Given the description of an element on the screen output the (x, y) to click on. 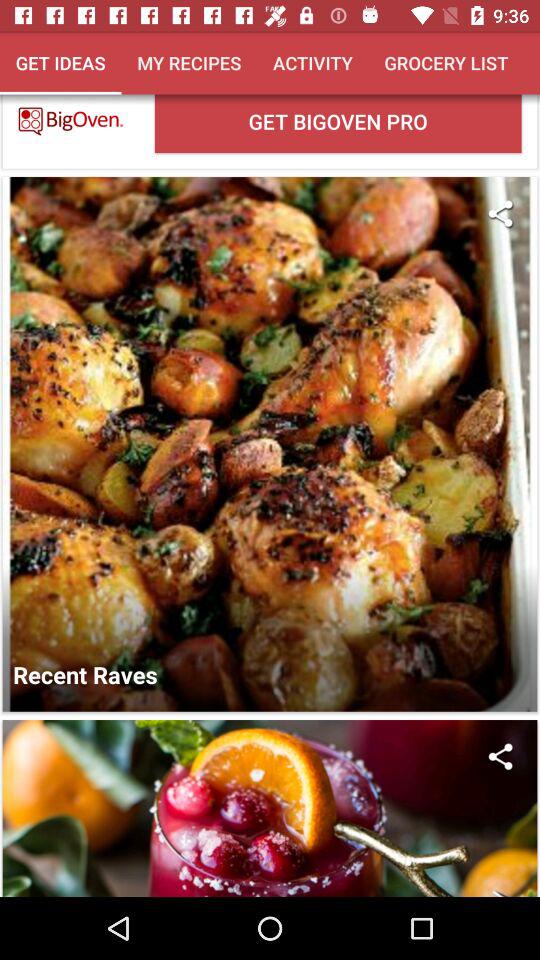
share the image (500, 756)
